Given the description of an element on the screen output the (x, y) to click on. 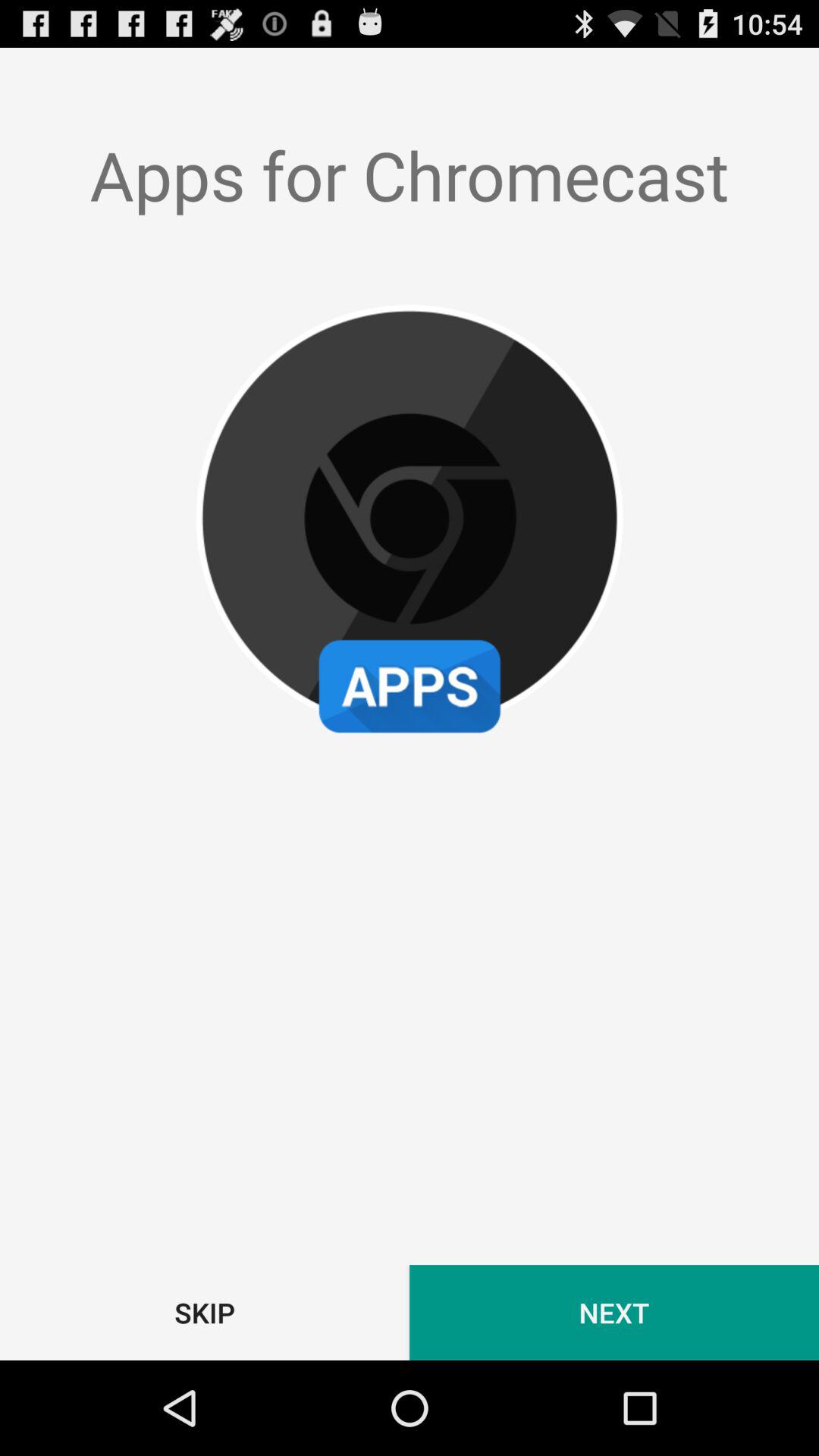
open button to the left of the next icon (204, 1312)
